Given the description of an element on the screen output the (x, y) to click on. 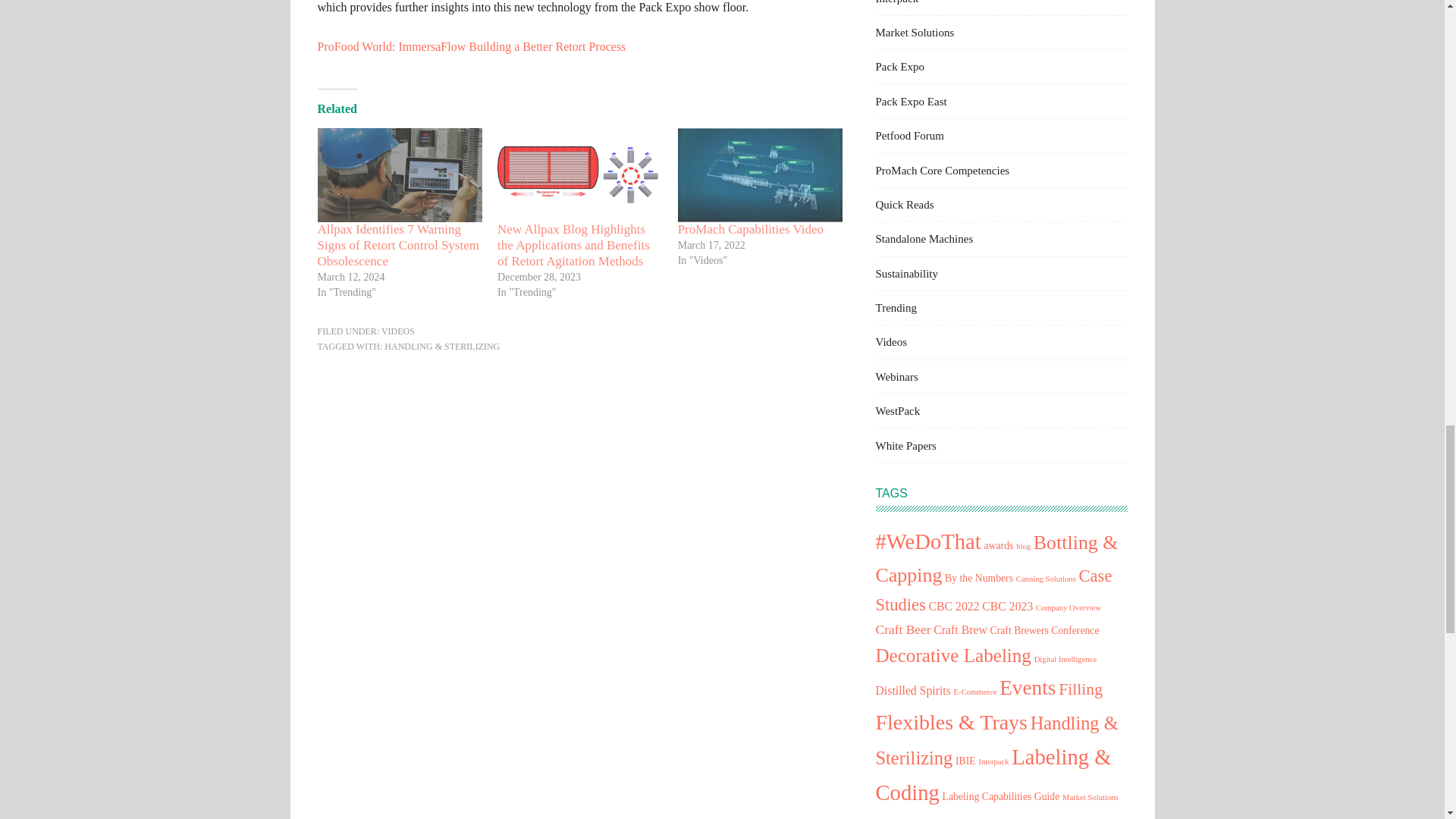
VIDEOS (397, 330)
ProMach Capabilities Video (751, 228)
ProMach Capabilities Video (760, 174)
ProFood World: ImmersaFlow Building a Better Retort Process (471, 46)
ProMach Capabilities Video (751, 228)
